Given the description of an element on the screen output the (x, y) to click on. 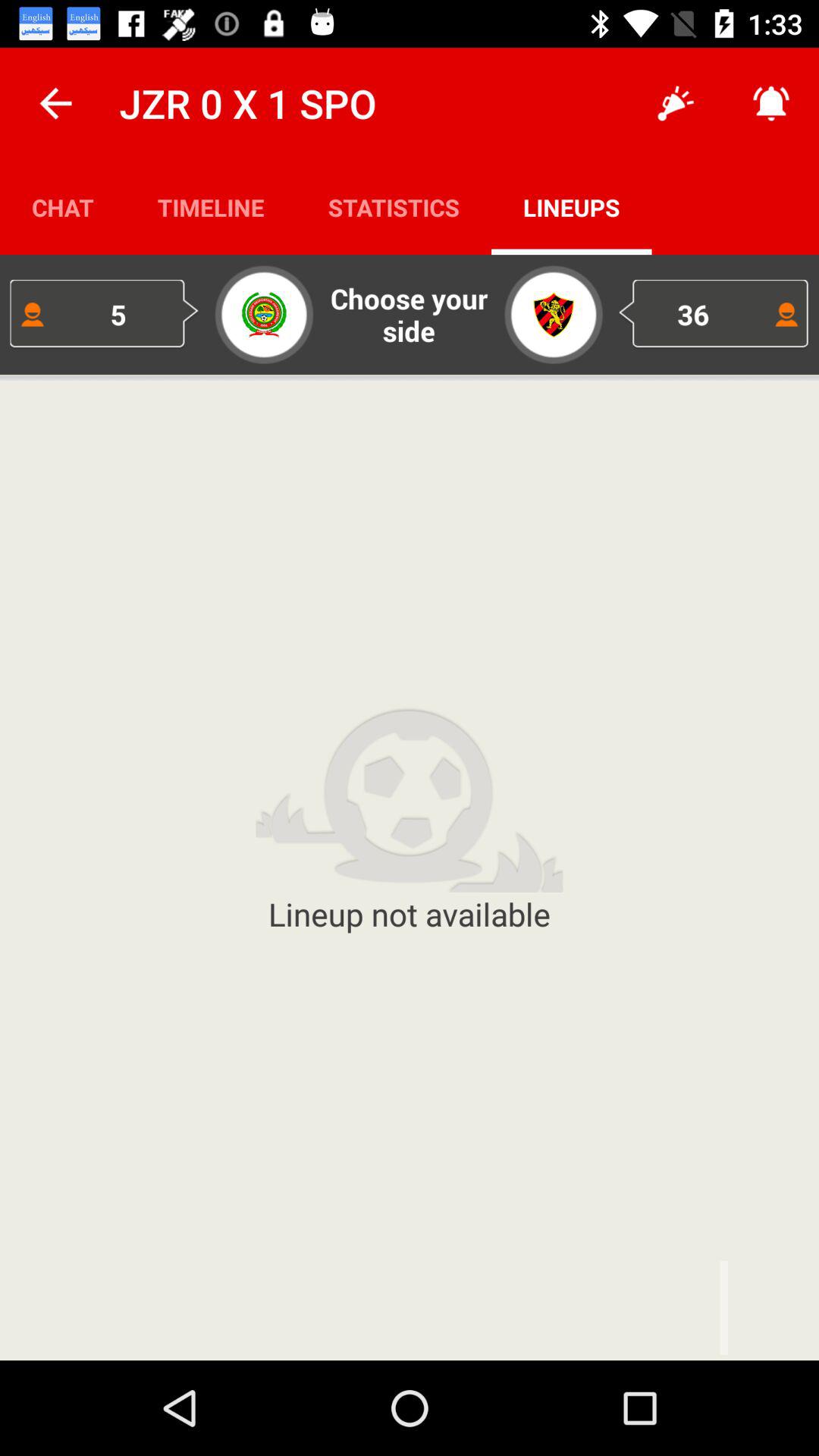
turn on the timeline item (210, 206)
